Given the description of an element on the screen output the (x, y) to click on. 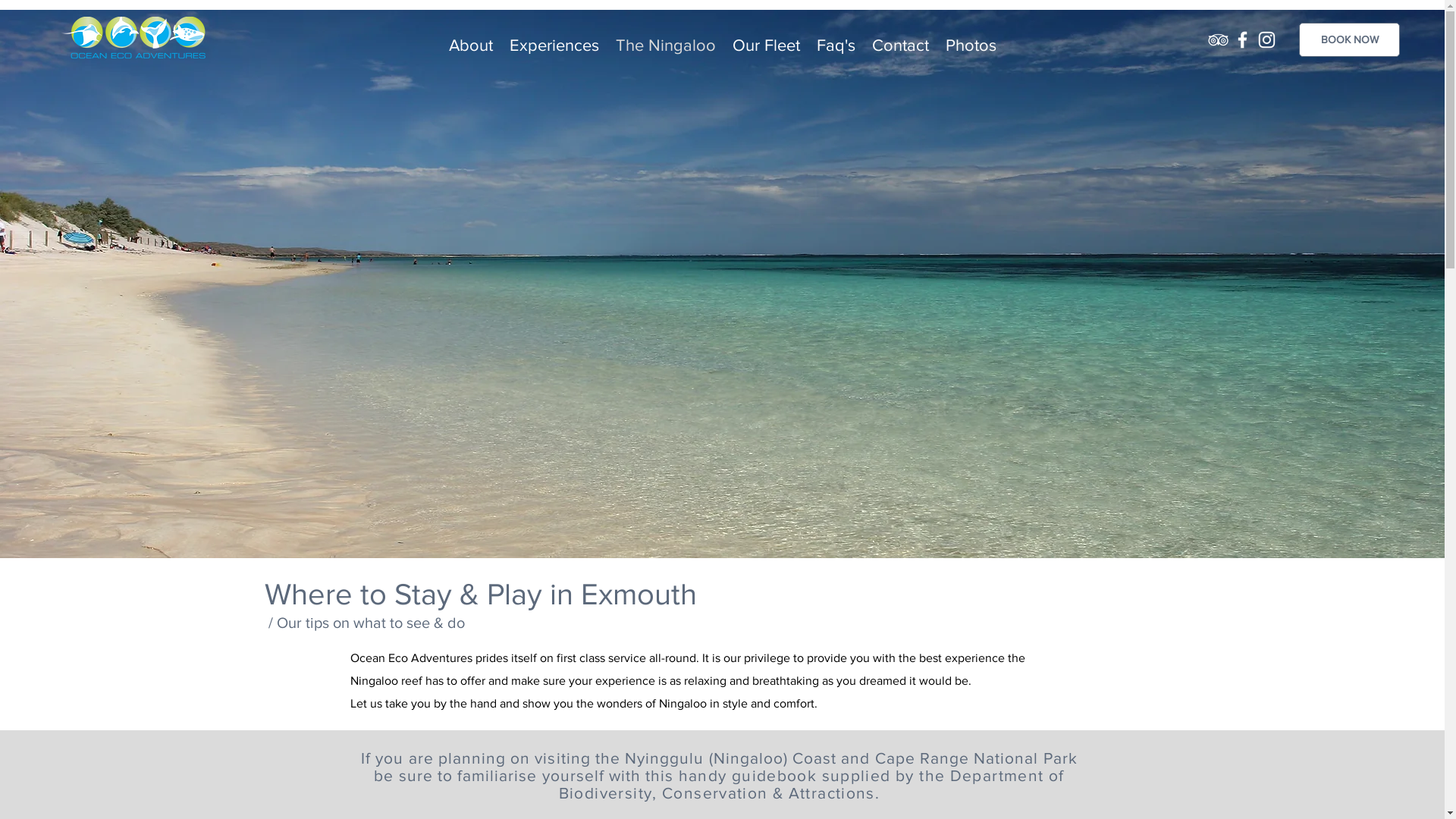
Faq's Element type: text (835, 38)
The Ningaloo Element type: text (665, 38)
About Element type: text (470, 38)
Photos Element type: text (970, 38)
BOOK NOW Element type: text (1349, 39)
Embedded Content Element type: hover (89, 776)
Contact Element type: text (900, 38)
